Given the description of an element on the screen output the (x, y) to click on. 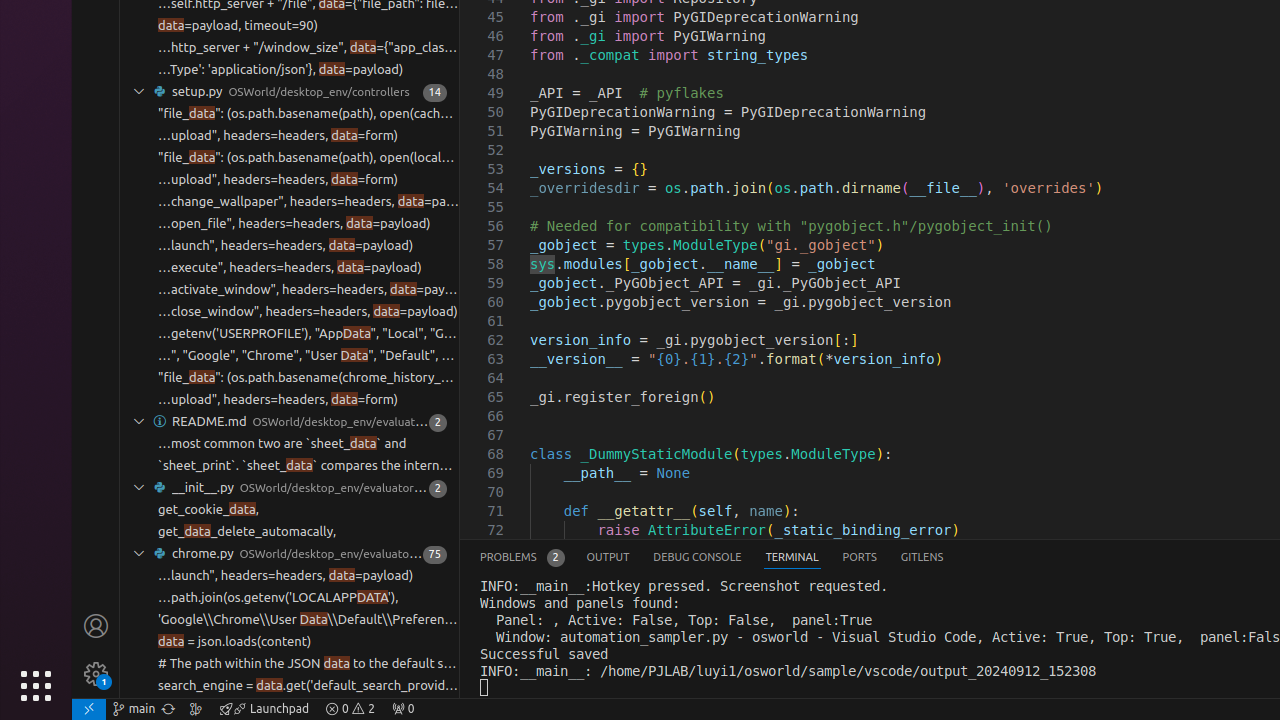
' search_engine = data.get('default_search_provider_data', {}).get('template_url_data', {}).get('short_name',' at column 59 found data Element type: tree-item (289, 707)
' """import os; print(os.path.join(os.getenv('USERPROFILE'), "AppData", "Local", "Google", "Chrome", "User Data", "Default", "History"))""")[' at column 80 found Data Element type: tree-item (289, 333)
2 matches in file __init__.py of folder OSWorld/desktop_env/evaluators/getters, Search result Element type: tree-item (289, 487)
remote Element type: push-button (89, 709)
14 matches in file setup.py of folder OSWorld/desktop_env/controllers, Search result Element type: tree-item (289, 91)
